Given the description of an element on the screen output the (x, y) to click on. 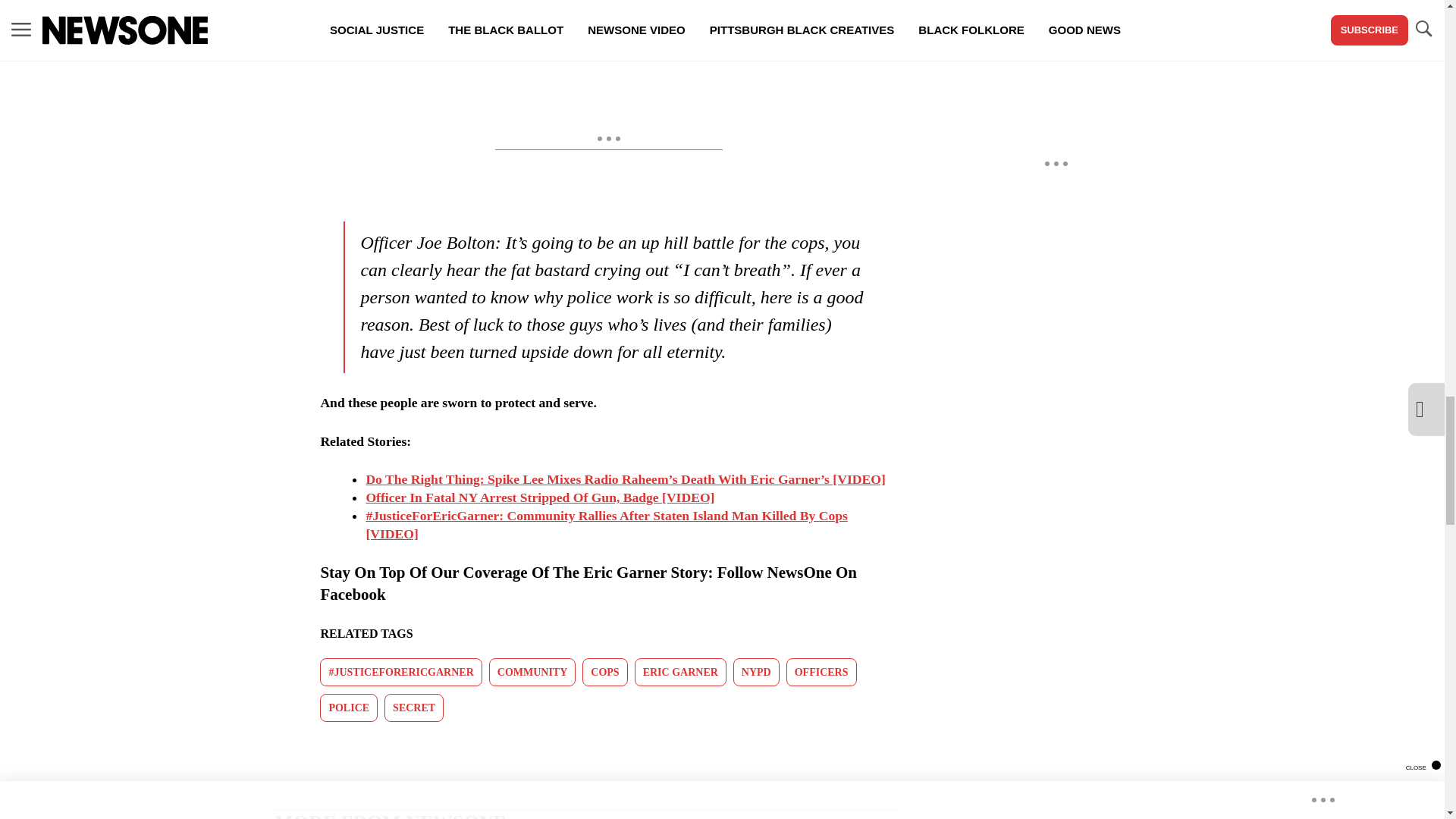
COMMUNITY (532, 672)
OFFICERS (821, 672)
POLICE (348, 707)
SECRET (414, 707)
NYPD (755, 672)
COPS (604, 672)
ERIC GARNER (680, 672)
